Given the description of an element on the screen output the (x, y) to click on. 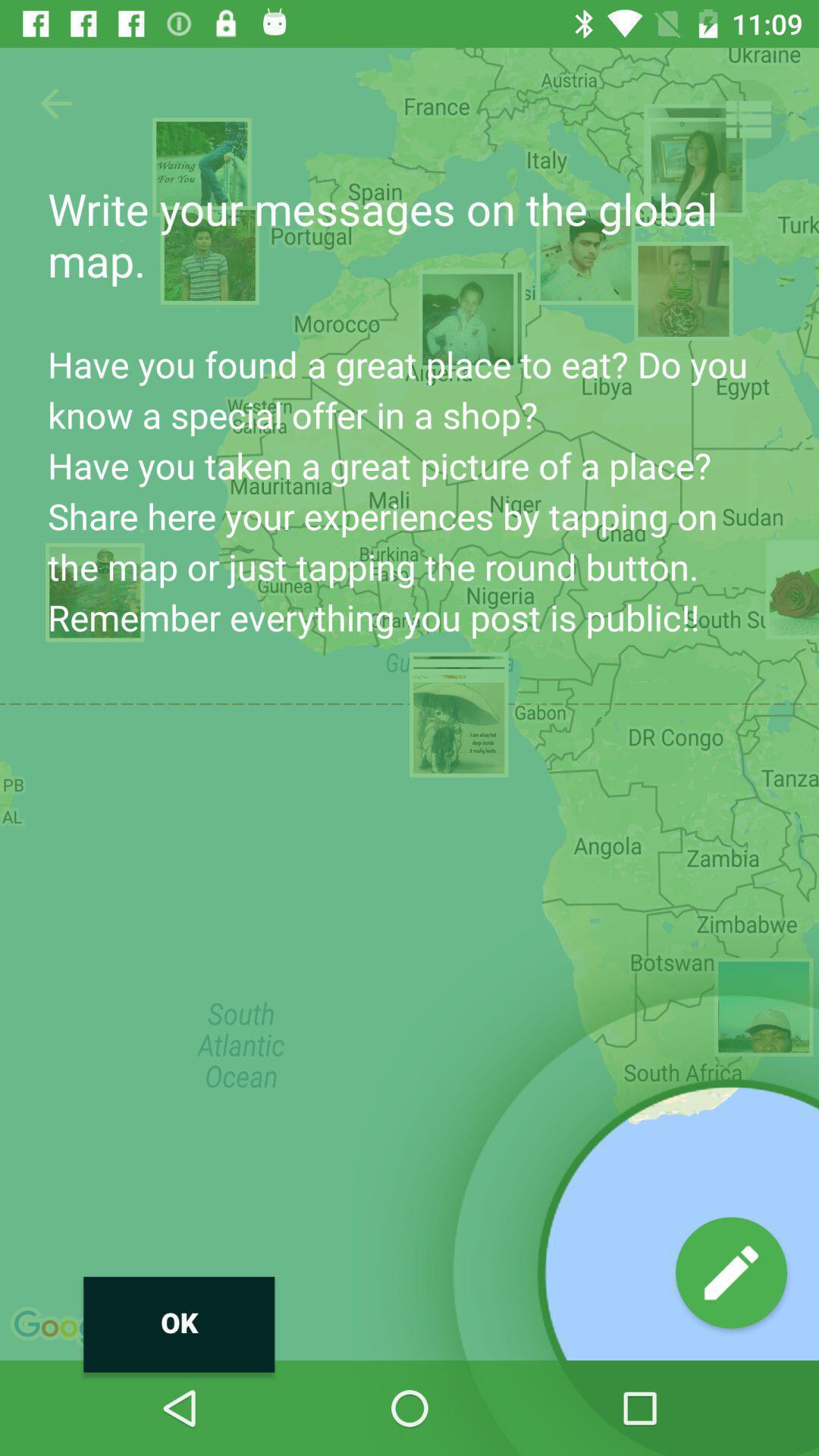
launch the icon at the top left corner (55, 103)
